Given the description of an element on the screen output the (x, y) to click on. 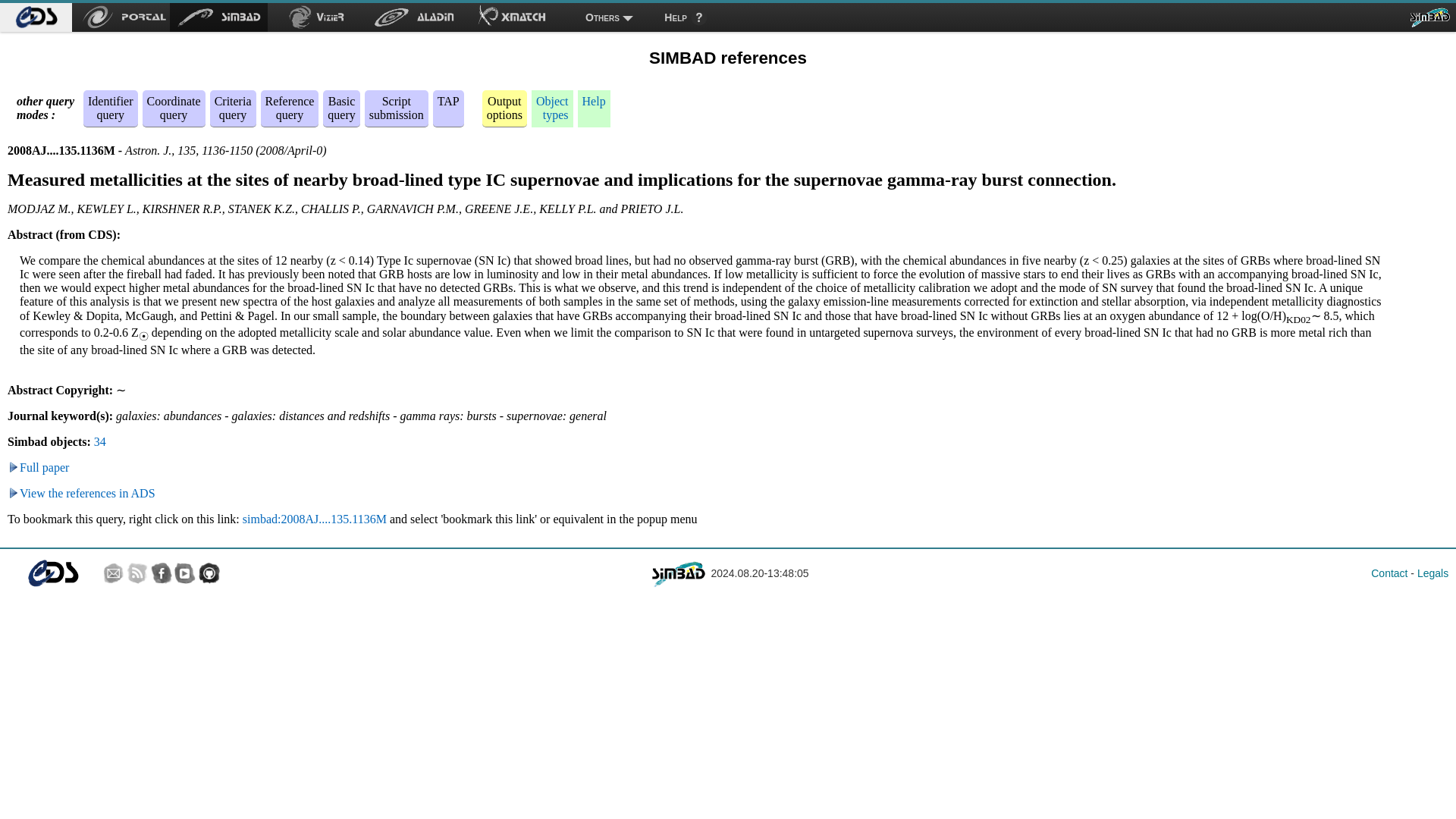
Select the displayed data (173, 108)
Help (289, 108)
Legals (504, 108)
34 (593, 101)
TAP (1432, 573)
Query by position with radius, epoch, equinox (341, 108)
CDS' GitHub page. (100, 440)
